Given the description of an element on the screen output the (x, y) to click on. 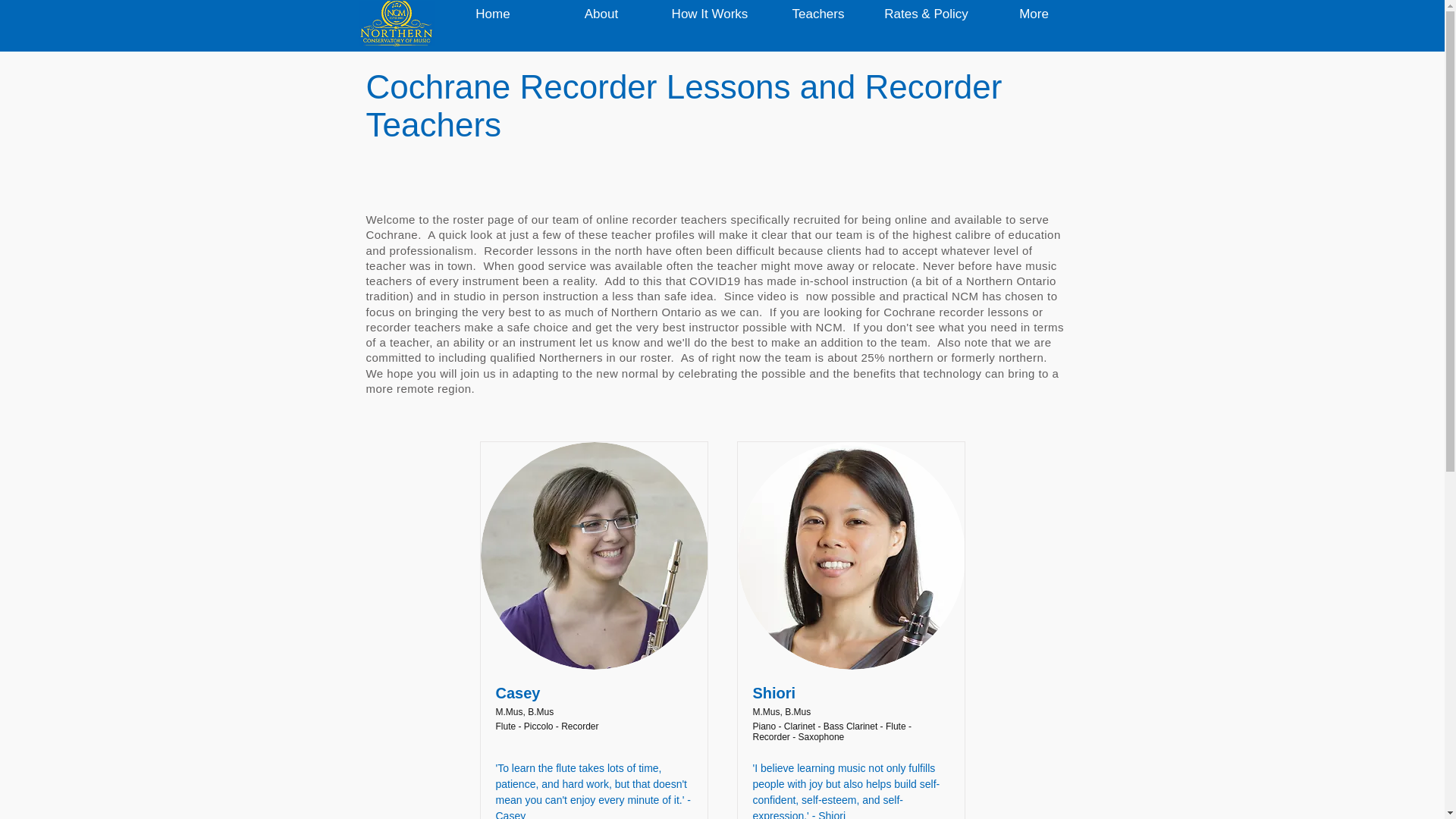
Home (492, 13)
Teachers (818, 13)
About (601, 13)
How It Works (708, 13)
